Given the description of an element on the screen output the (x, y) to click on. 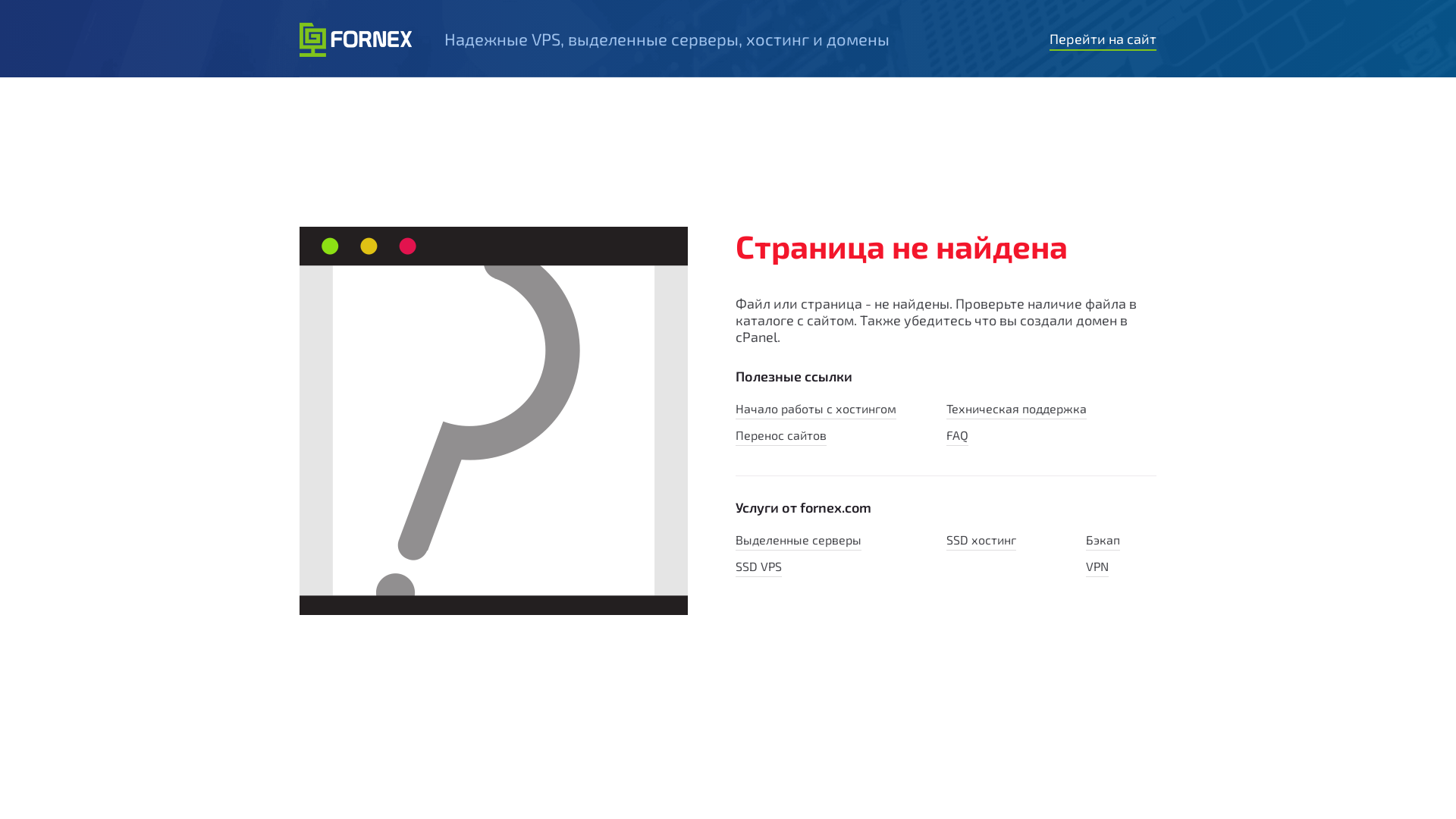
VPN Element type: text (1096, 567)
FAQ Element type: text (957, 436)
SSD VPS Element type: text (758, 567)
